Given the description of an element on the screen output the (x, y) to click on. 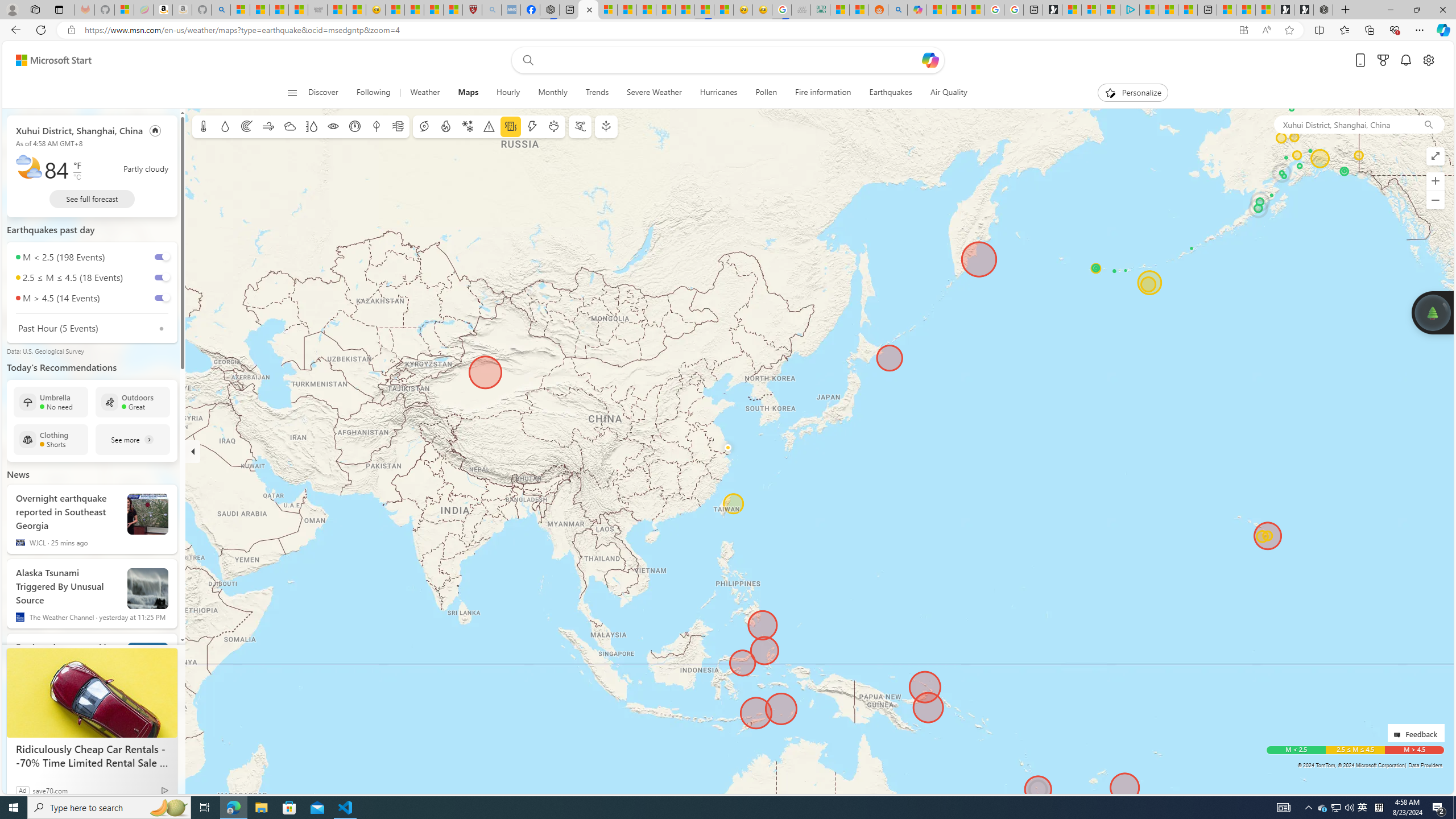
App available. Install Microsoft Start Weather (1243, 29)
Discover (322, 92)
Restore (1416, 9)
Tab actions menu (58, 9)
Air Quality (948, 92)
Hurricanes (718, 92)
Stocks - MSN (298, 9)
Enter full screen mode (1435, 156)
Ad (22, 790)
Add this page to favorites (Ctrl+D) (1289, 29)
Severe Weather (653, 92)
